Given the description of an element on the screen output the (x, y) to click on. 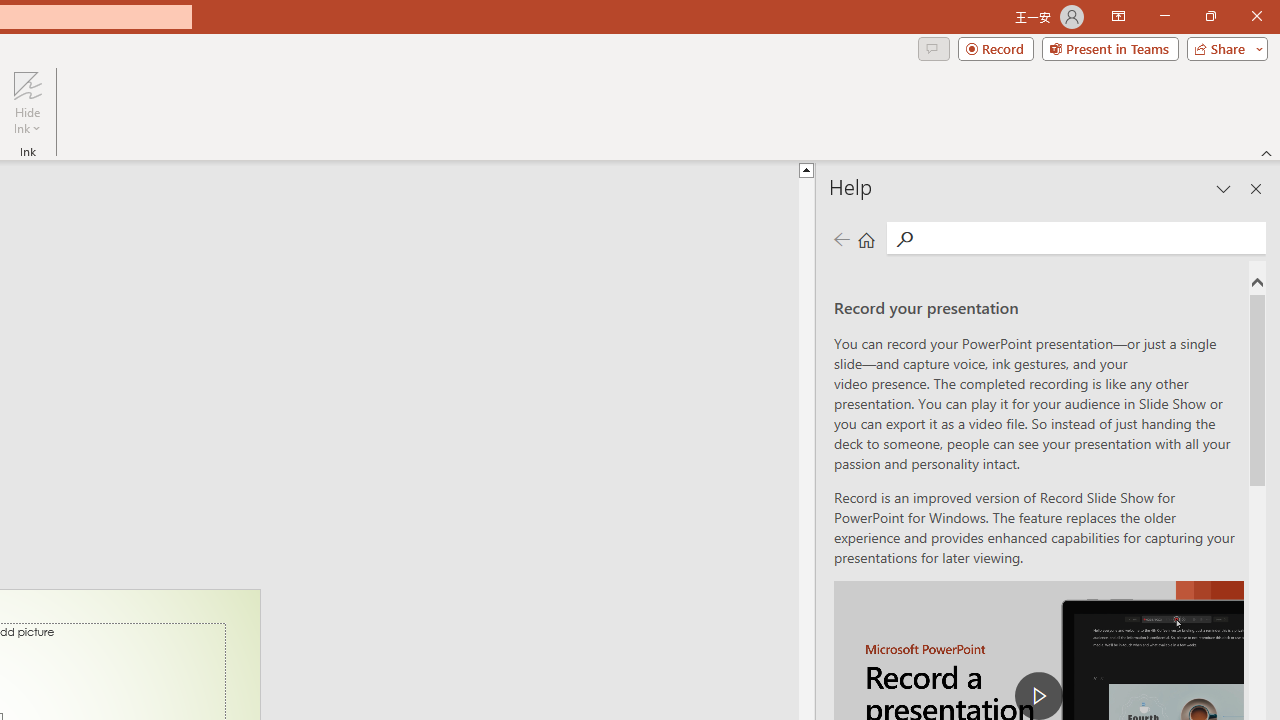
Previous page (841, 238)
play Record a Presentation (1038, 695)
